Given the description of an element on the screen output the (x, y) to click on. 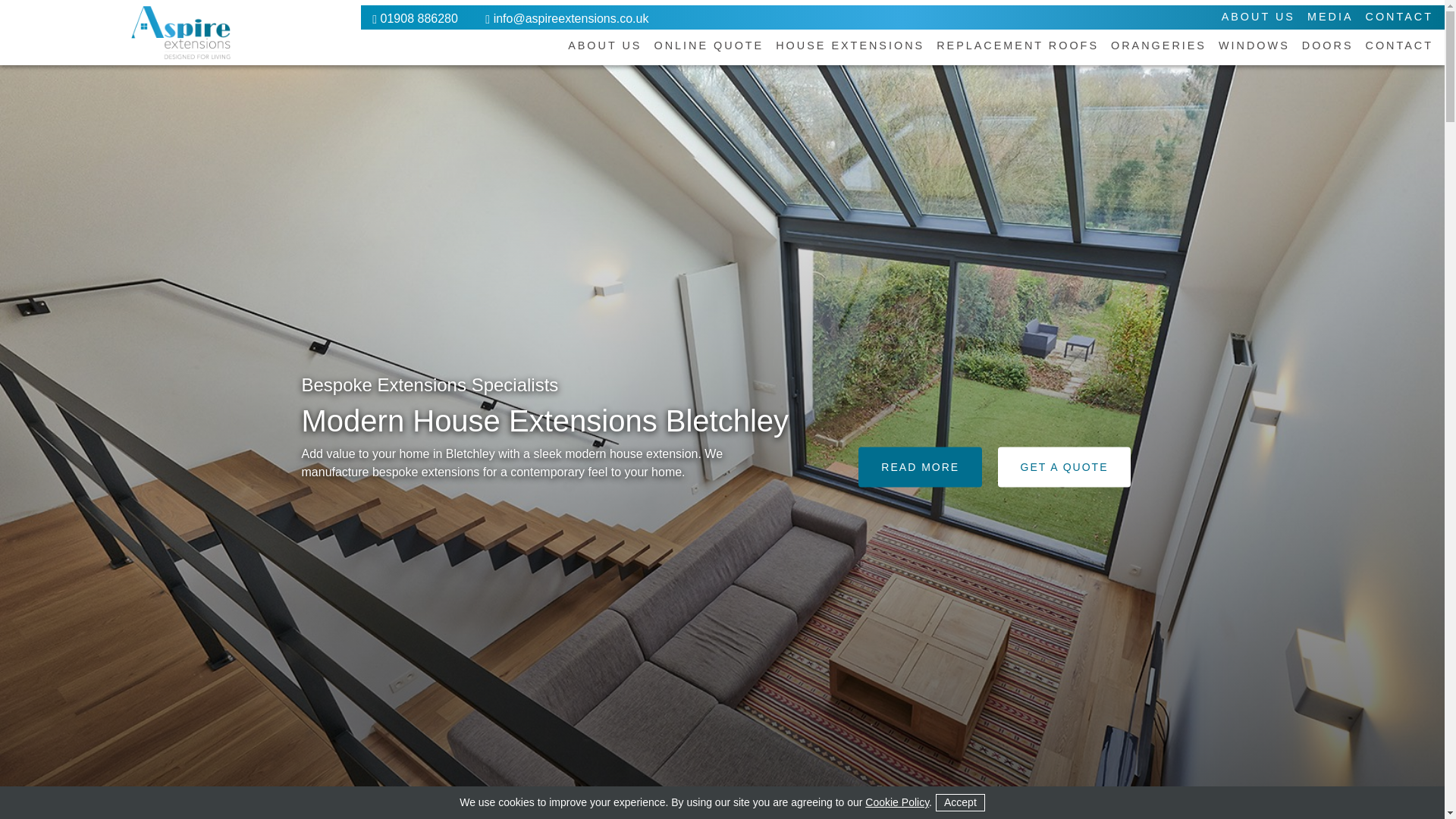
WINDOWS (1254, 47)
READ MORE (920, 467)
CONTACT (1398, 18)
MEDIA (1330, 18)
REPLACEMENT ROOFS (1017, 47)
01908 886280 (419, 18)
ONLINE QUOTE (707, 47)
ORANGERIES (1158, 47)
ABOUT US (1258, 18)
HOUSE EXTENSIONS (850, 47)
ABOUT US (604, 47)
